Given the description of an element on the screen output the (x, y) to click on. 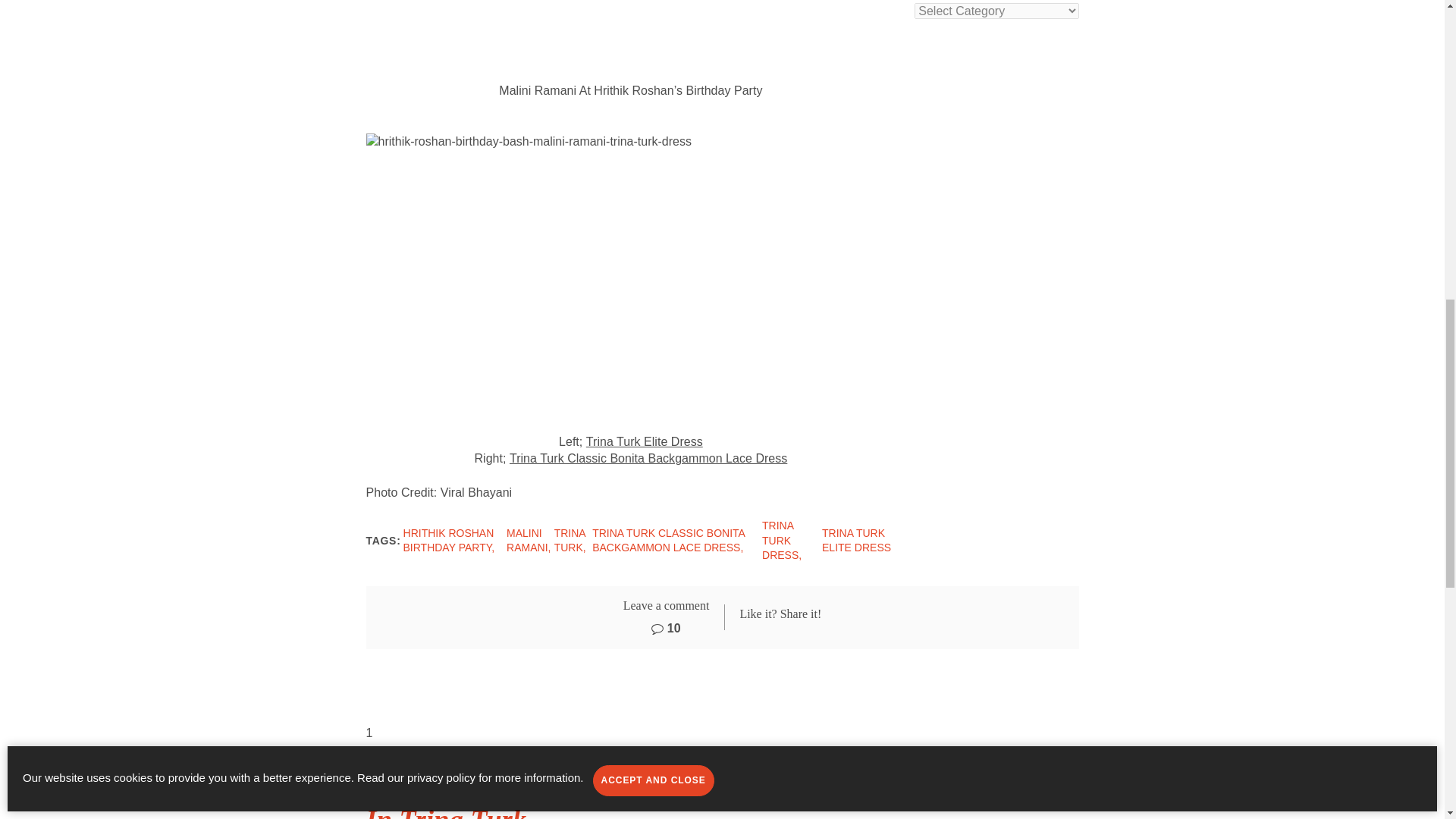
TRINA TURK DRESS, (781, 540)
hrithik-roshan-birthday-bash-malini-ramani-trina-turk-dress (532, 274)
Trina Turk Classic Bonita Backgammon Lace Dress (648, 458)
10 (664, 627)
HRITHIK ROSHAN BIRTHDAY PARTY, (449, 540)
Trina Turk Elite Dress (644, 442)
TRINA TURK, (570, 540)
TRINA TURK CLASSIC BONITA BACKGAMMON LACE DRESS, (668, 540)
In Trina Turk (445, 811)
MALINI RAMANI, (528, 540)
TRINA TURK ELITE DRESS (856, 540)
